Given the description of an element on the screen output the (x, y) to click on. 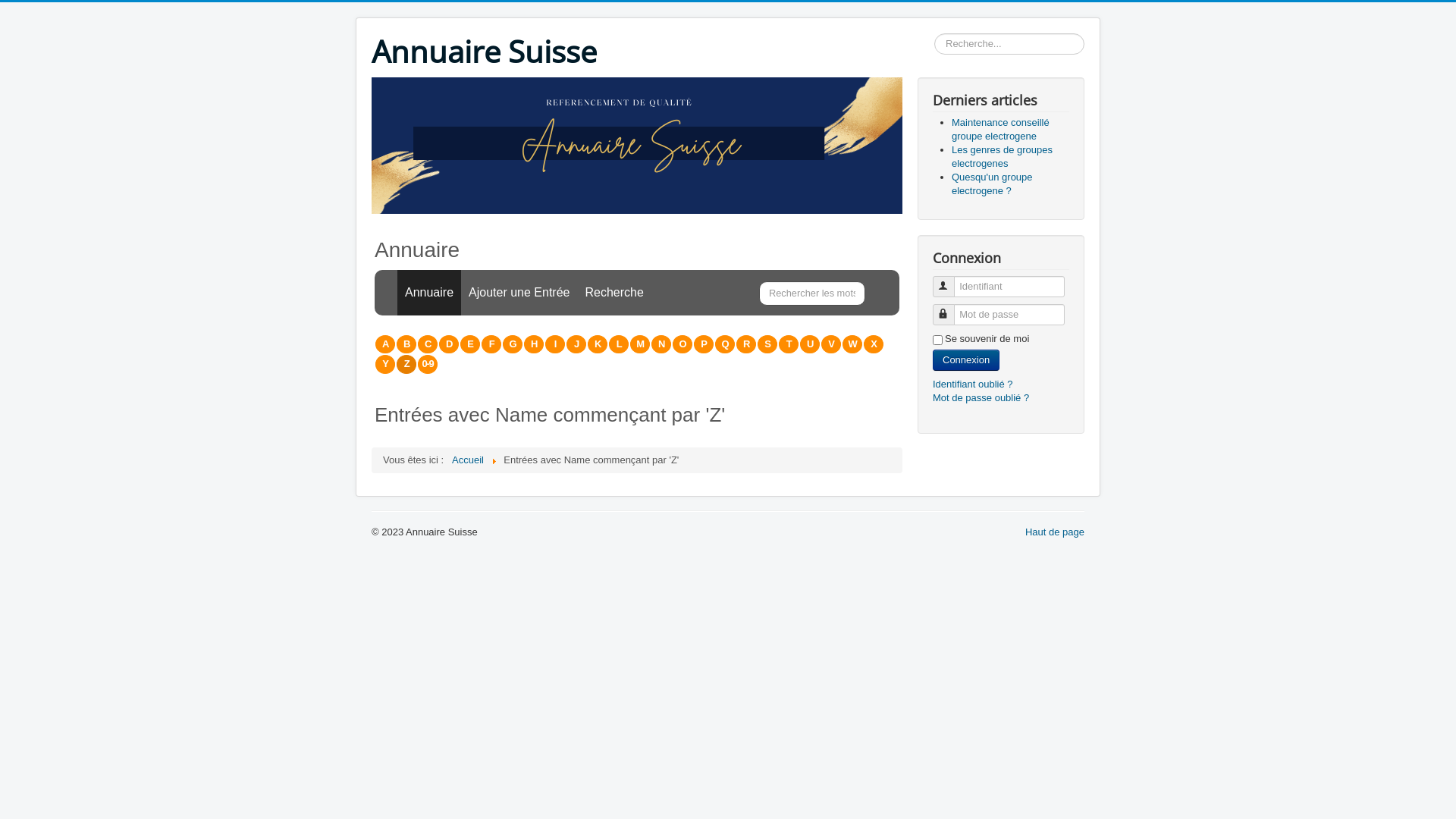
Quesqu'un groupe electrogene ? Element type: text (991, 183)
0-9 Element type: text (427, 363)
Annuaire Element type: text (429, 292)
M Element type: text (639, 344)
Q Element type: text (724, 344)
Les genres de groupes electrogenes Element type: text (1001, 156)
Accueil Element type: text (467, 459)
W Element type: text (852, 344)
V Element type: text (830, 344)
F Element type: text (491, 344)
C Element type: text (427, 344)
K Element type: text (597, 344)
X Element type: text (873, 344)
H Element type: text (533, 344)
O Element type: text (682, 344)
J Element type: text (576, 344)
A Element type: text (385, 344)
D Element type: text (448, 344)
L Element type: text (618, 344)
Recherche Element type: text (613, 292)
Z Element type: text (406, 363)
S Element type: text (767, 344)
I Element type: text (554, 344)
U Element type: text (809, 344)
R Element type: text (746, 344)
Haut de page Element type: text (1054, 531)
B Element type: text (406, 344)
Connexion Element type: text (965, 359)
P Element type: text (703, 344)
G Element type: text (512, 344)
Y Element type: text (385, 363)
T Element type: text (788, 344)
N Element type: text (661, 344)
Annuaire Suisse Element type: text (483, 51)
E Element type: text (470, 344)
